Given the description of an element on the screen output the (x, y) to click on. 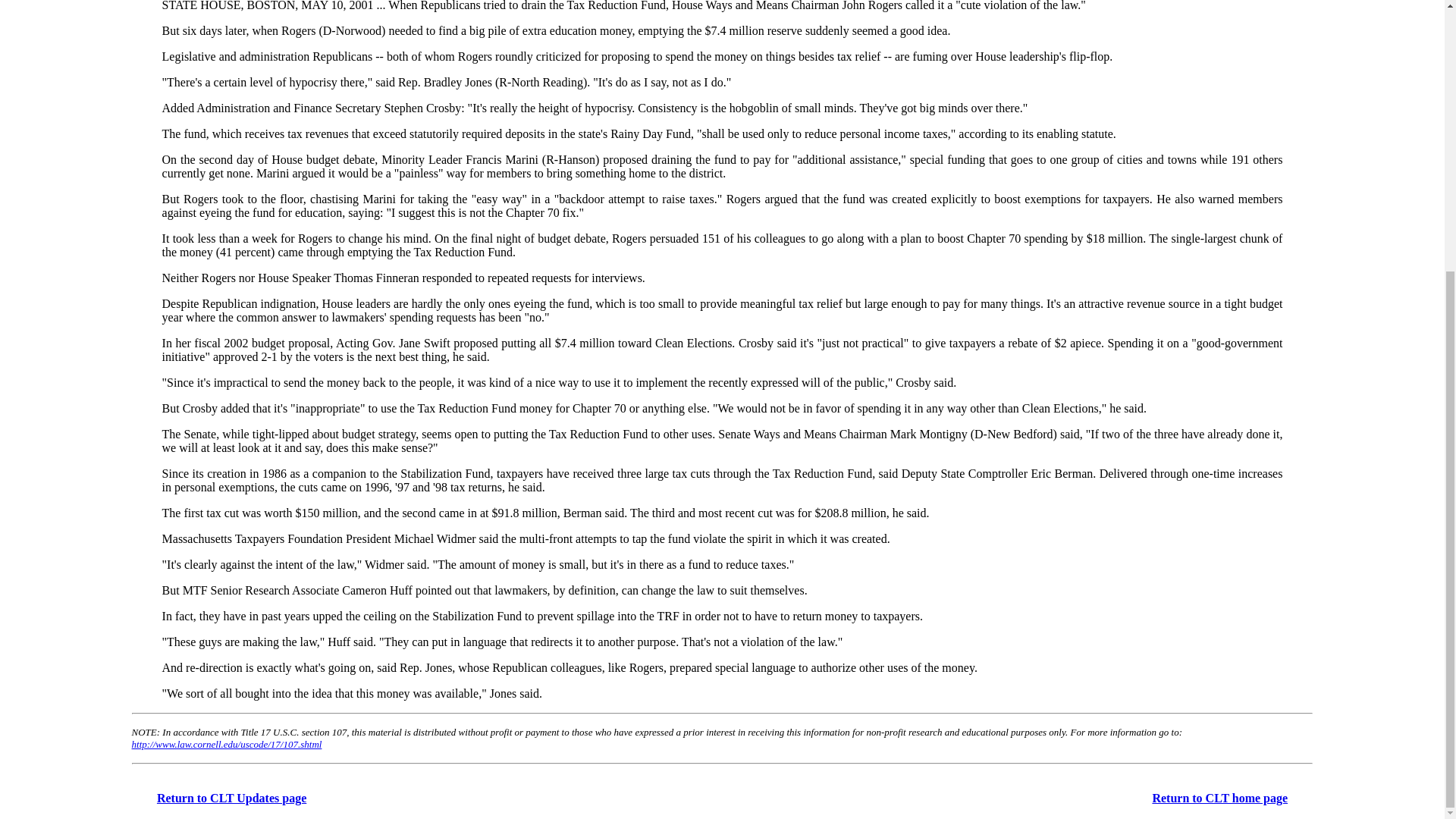
Return to CLT home page (1219, 797)
Return to CLT Updates page (231, 797)
